Given the description of an element on the screen output the (x, y) to click on. 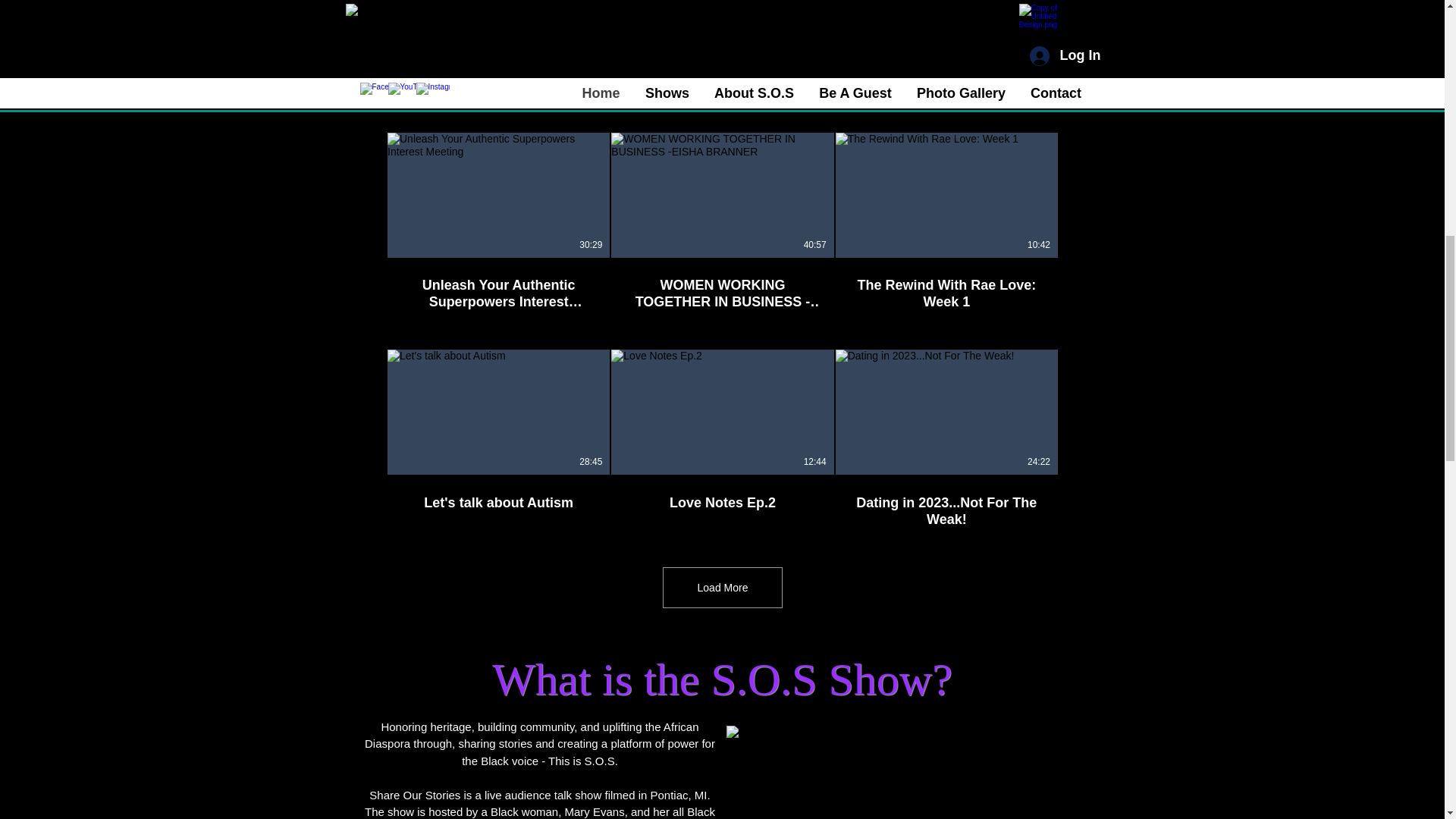
Unleash Your Authentic Superpowers Interest Meeting (497, 284)
Dating in 2023...Not For The Weak! (945, 502)
Dating in 2023...Not For The Weak! (946, 511)
WOMEN WORKING TOGETHER IN BUSINESS -EISHA BRANNER (722, 294)
Love and Lyric Virtual Vibes Ep. 2 (722, 76)
The Rewind With Rae Love: Week 1 (946, 294)
Love Notes Ep.2 (722, 502)
Love and Lyric Virtual Vibes Ep. 2 (721, 67)
Love Notes Ep.2 (721, 493)
WOMEN WORKING TOGETHER IN BUSINESS -EISHA BRANNER (721, 284)
